Given the description of an element on the screen output the (x, y) to click on. 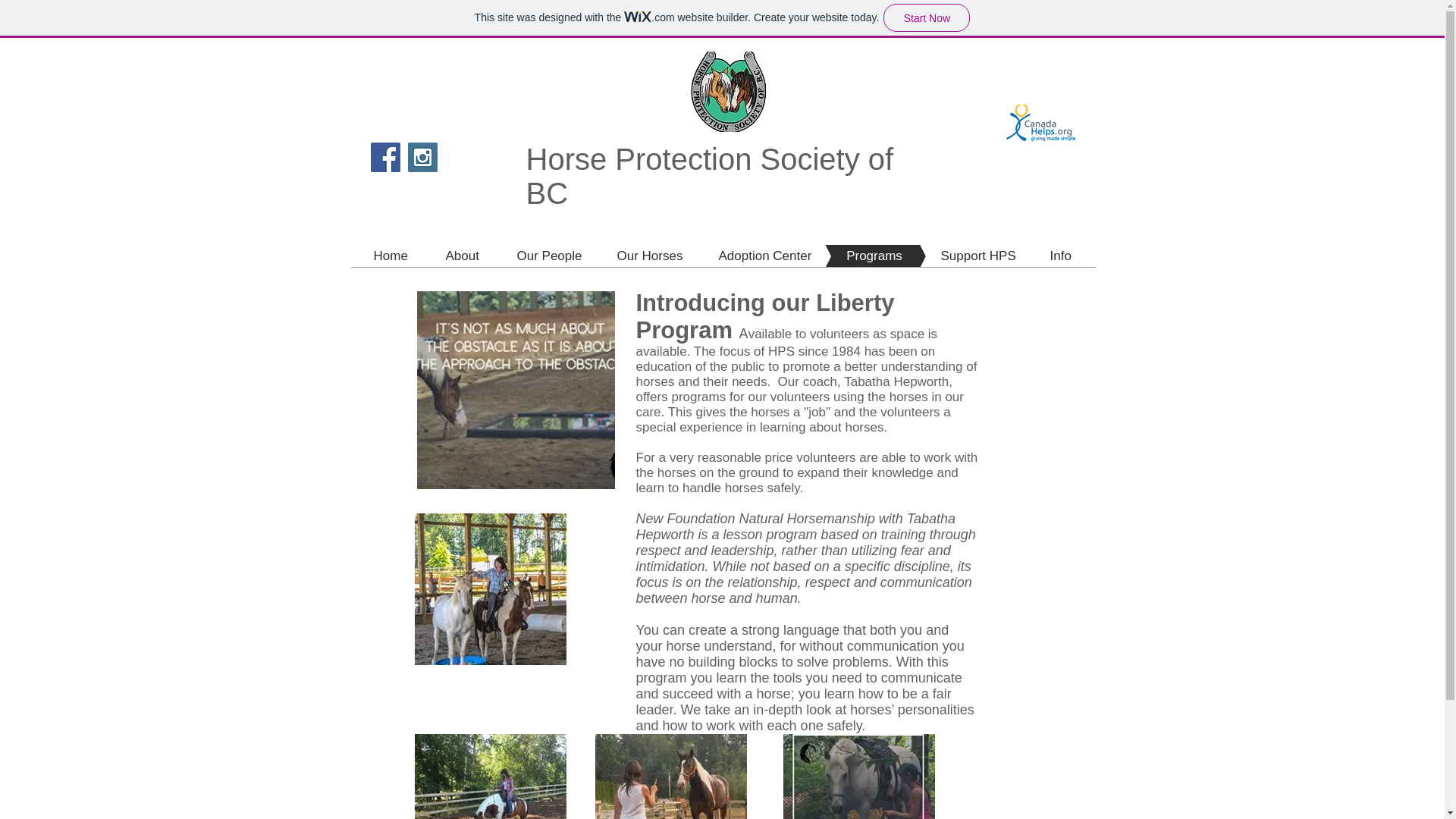
Support HPS (952, 255)
Our Horses (625, 255)
About (439, 255)
Info (1037, 255)
Our People (525, 255)
Adoption Center (740, 255)
Programs (851, 255)
Home (389, 255)
